Given the description of an element on the screen output the (x, y) to click on. 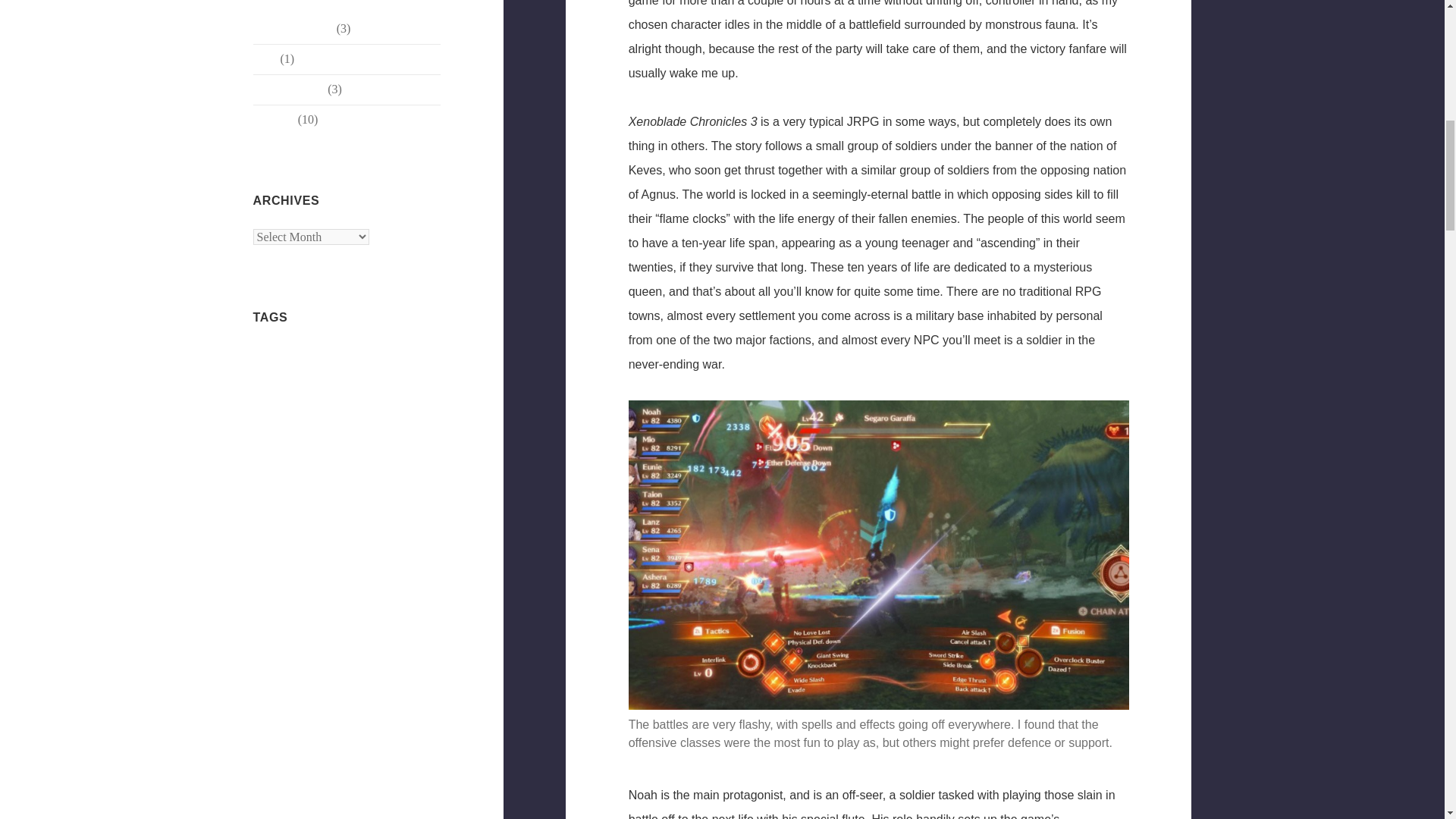
Retro Reviews (288, 88)
General Gaming (293, 28)
Misc (265, 58)
Reviews (274, 119)
